Given the description of an element on the screen output the (x, y) to click on. 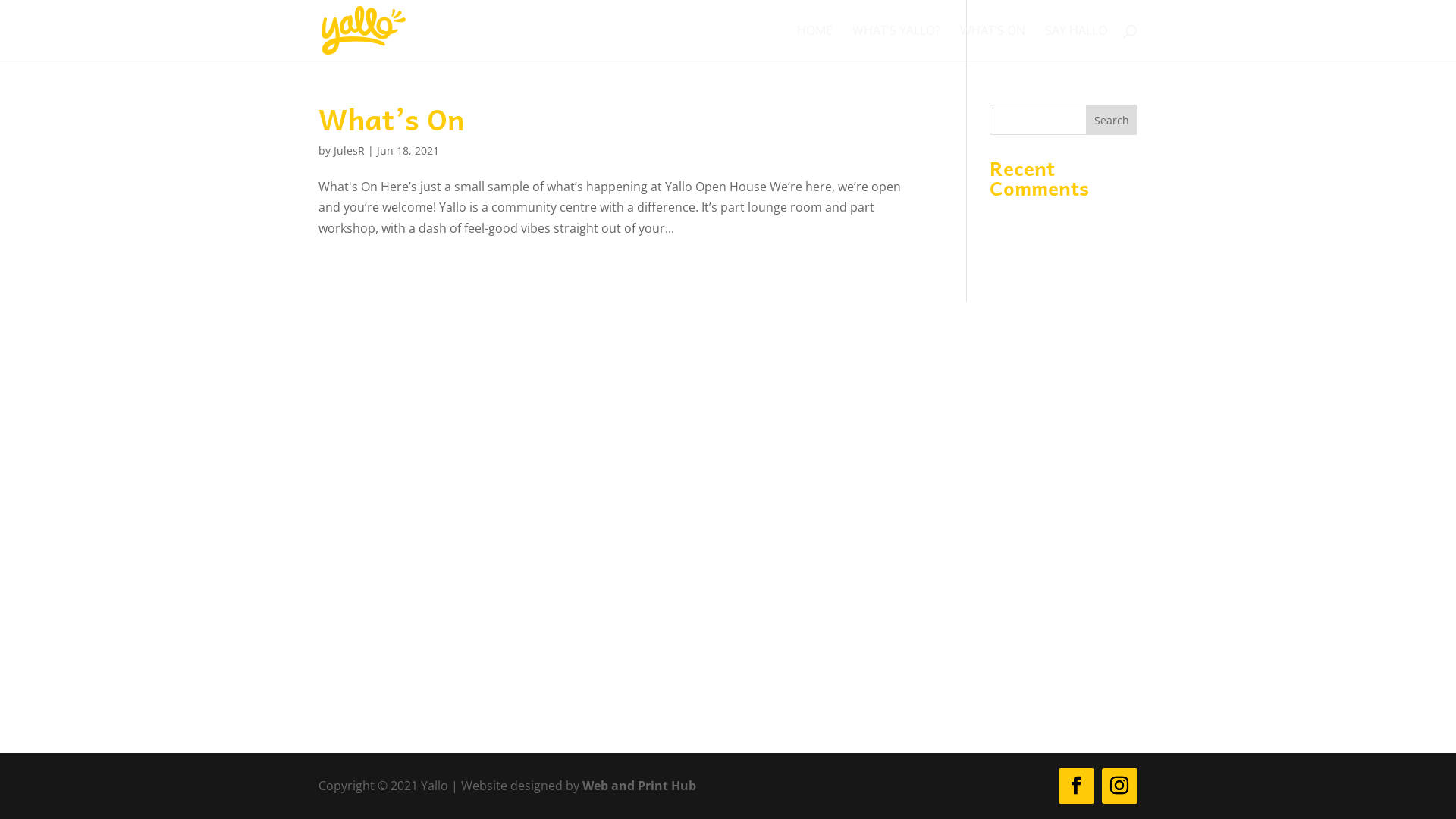
JulesR Element type: text (348, 150)
HOME Element type: text (814, 42)
SAY HALLO Element type: text (1075, 42)
Web and Print Hub Element type: text (639, 785)
Search Element type: text (1111, 119)
